Given the description of an element on the screen output the (x, y) to click on. 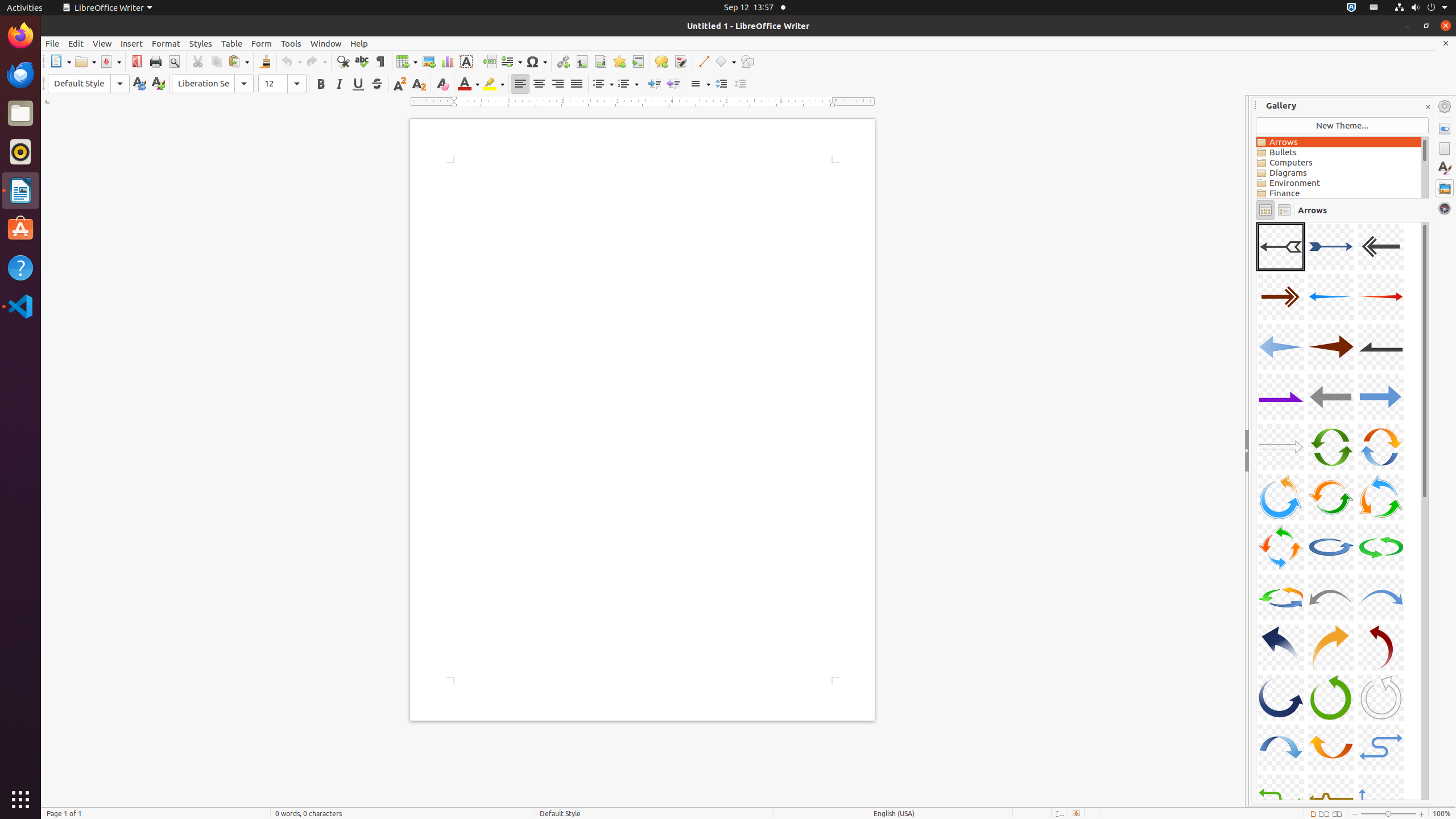
Comment Element type: push-button (660, 61)
Cross-reference Element type: push-button (637, 61)
A26-CurvedArrow-Orange Element type: list-item (1330, 646)
A28-CurvedArrow-DarkBlue Element type: list-item (1280, 696)
File Element type: menu (51, 43)
